Given the description of an element on the screen output the (x, y) to click on. 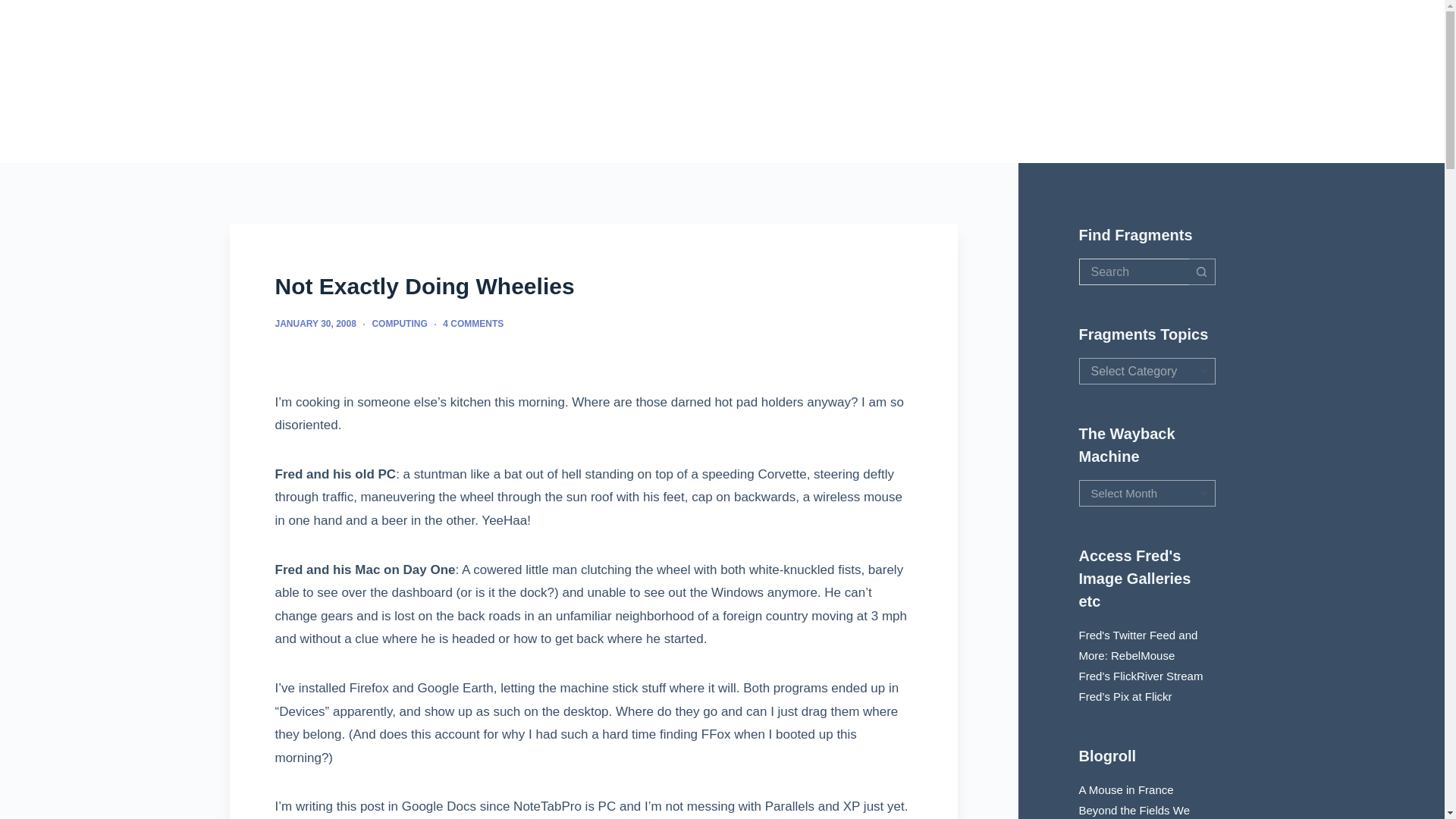
Fragments from Floyd (348, 81)
Not Exactly Doing Wheelies (593, 286)
Nice slide scrolling presentation of Flickr images (1140, 675)
HOME (763, 81)
FRAGMENTS (881, 81)
Search for... (1133, 271)
Skip to content (15, 7)
